Given the description of an element on the screen output the (x, y) to click on. 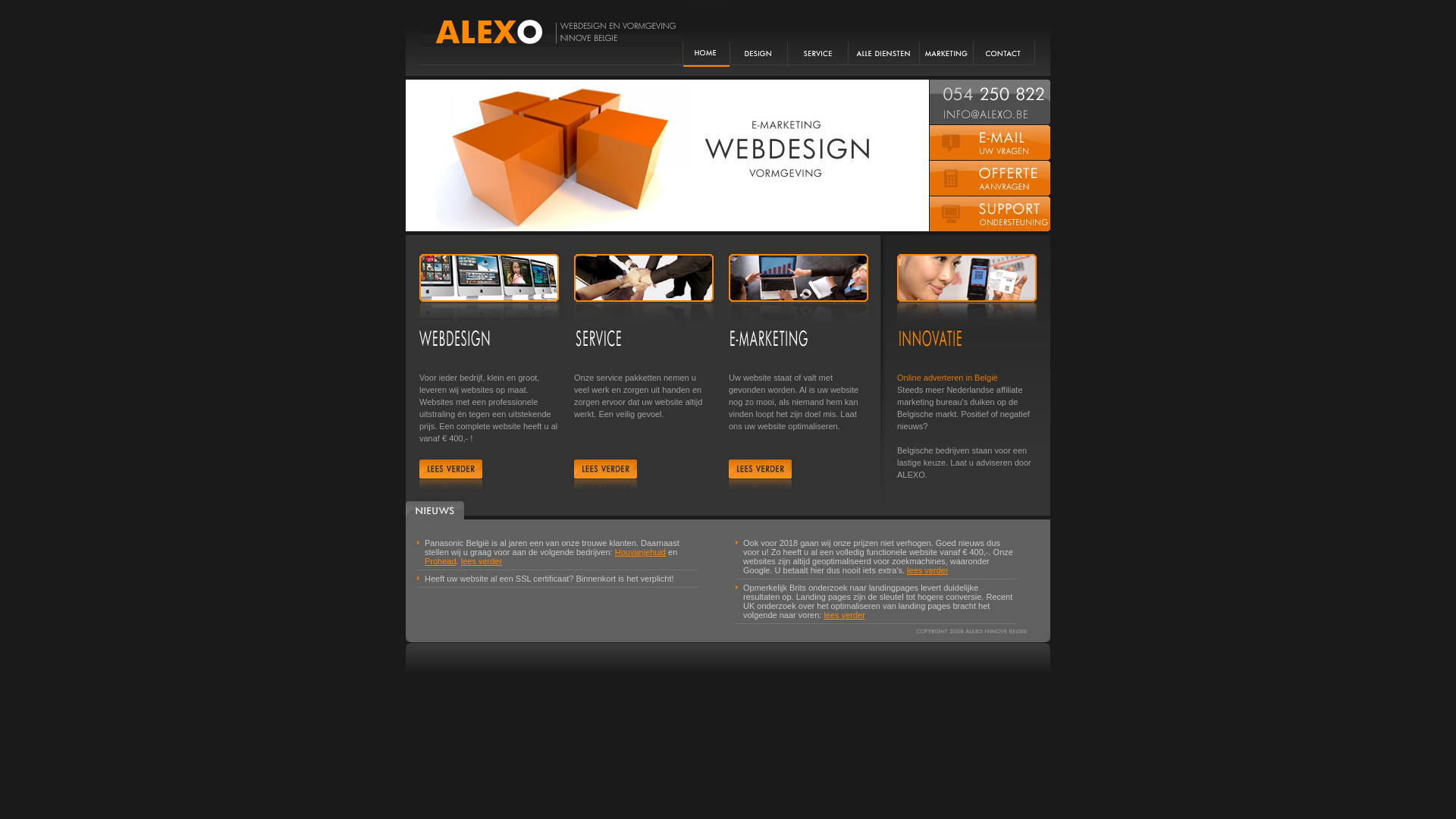
Prohead Element type: text (440, 560)
Contact Element type: text (1003, 37)
Home Element type: text (706, 37)
Houvanjehuid Element type: text (640, 551)
Webdesign Element type: text (758, 37)
ALEXO Webdesign en vormgeving in Ninove Element type: text (550, 32)
lees verder Element type: text (926, 569)
Vraag nu een vrijblijvende offerte aan Element type: text (989, 177)
Lees verder Element type: text (450, 478)
lees verder Element type: text (843, 614)
Lees verder Element type: text (759, 478)
Email uw vragen naar Alexo Element type: text (989, 142)
Alle diensten Element type: text (883, 37)
lees verder Element type: text (481, 560)
Service Element type: text (817, 37)
Alexo Nieuws Ninove Element type: text (434, 510)
Design ALEXO Ninove Element type: text (969, 630)
Lees verder Element type: text (605, 478)
Marketing Element type: text (945, 37)
Alexo Ondersteuning Ninove Element type: text (989, 213)
